Given the description of an element on the screen output the (x, y) to click on. 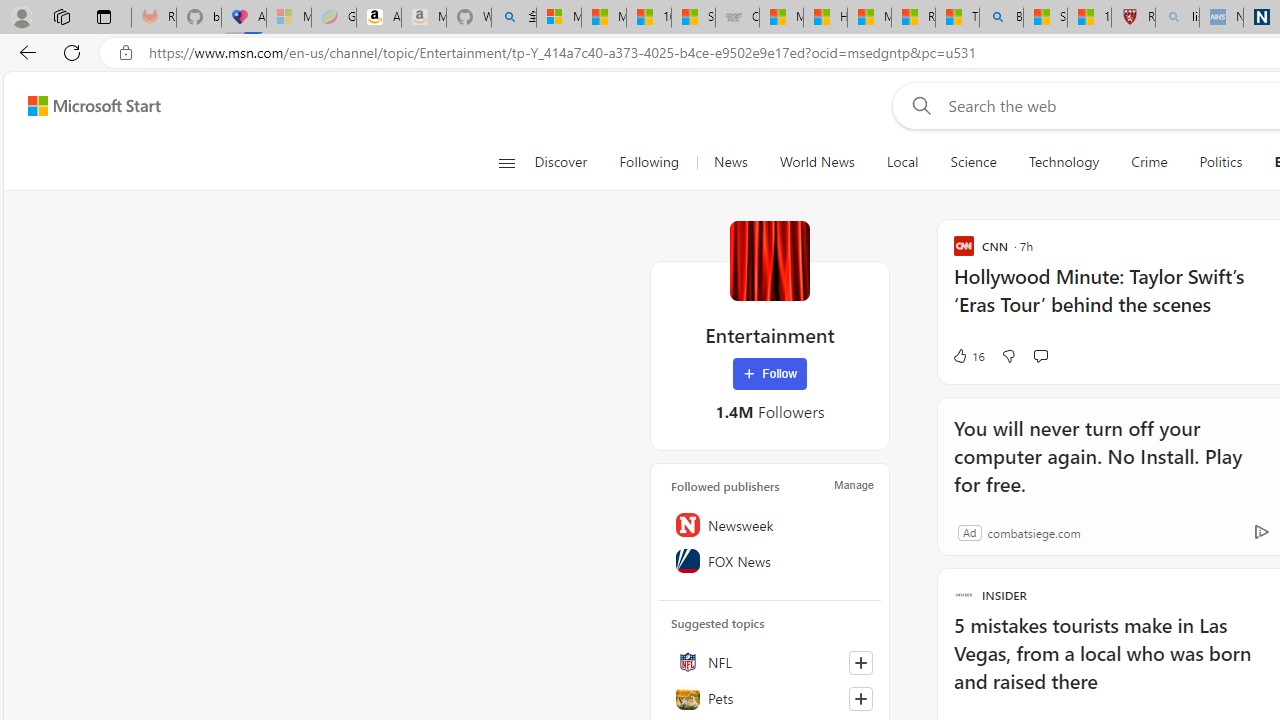
12 Popular Science Lies that Must be Corrected (1089, 17)
Science (973, 162)
Class: button-glyph (505, 162)
Robert H. Shmerling, MD - Harvard Health (1133, 17)
Technology (1063, 162)
Crime (1149, 162)
Pets (770, 697)
combatsiege.com (1033, 532)
